Given the description of an element on the screen output the (x, y) to click on. 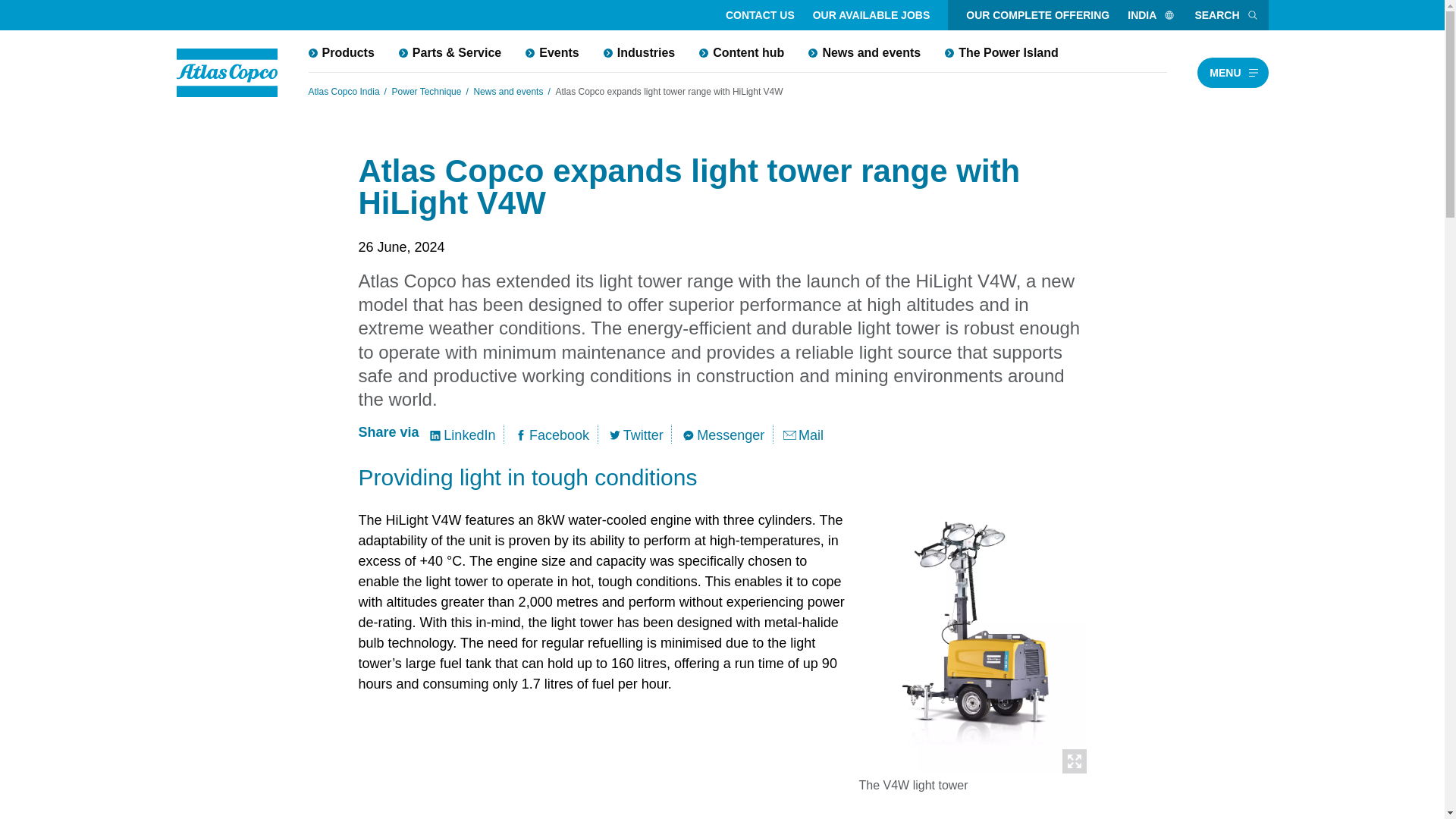
MENU (1232, 72)
INDIA (1151, 15)
Power Technique (426, 91)
OUR AVAILABLE JOBS (871, 15)
The Power Island (1001, 52)
SEARCH (1226, 15)
Content hub (741, 52)
OUR COMPLETE OFFERING (1037, 15)
CONTACT US (759, 15)
Industries (639, 52)
